Given the description of an element on the screen output the (x, y) to click on. 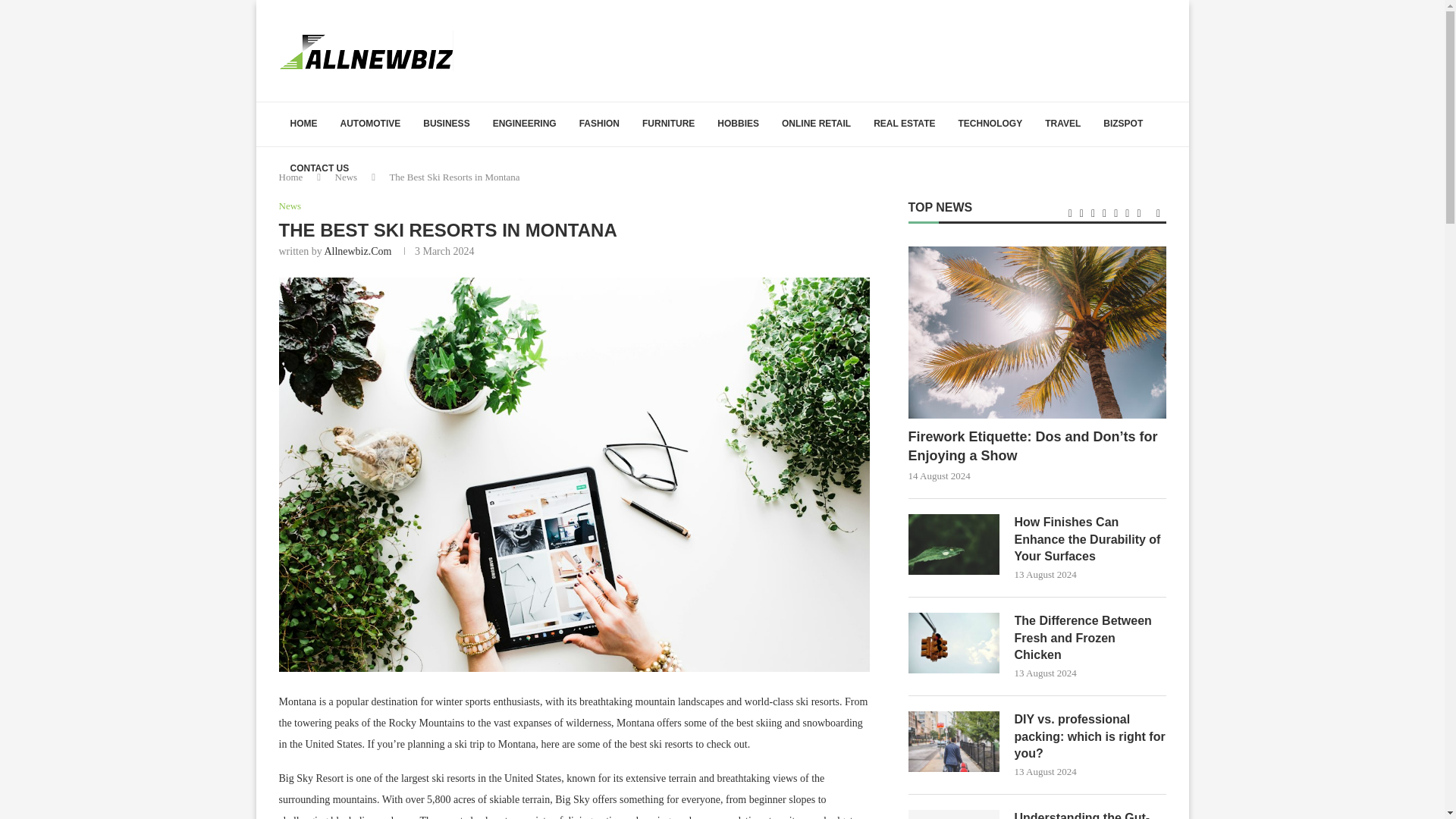
FURNITURE (668, 124)
AUTOMOTIVE (370, 124)
TECHNOLOGY (989, 124)
CONTACT US (320, 168)
News (346, 176)
ONLINE RETAIL (815, 124)
News (290, 205)
ENGINEERING (524, 124)
FASHION (598, 124)
